Given the description of an element on the screen output the (x, y) to click on. 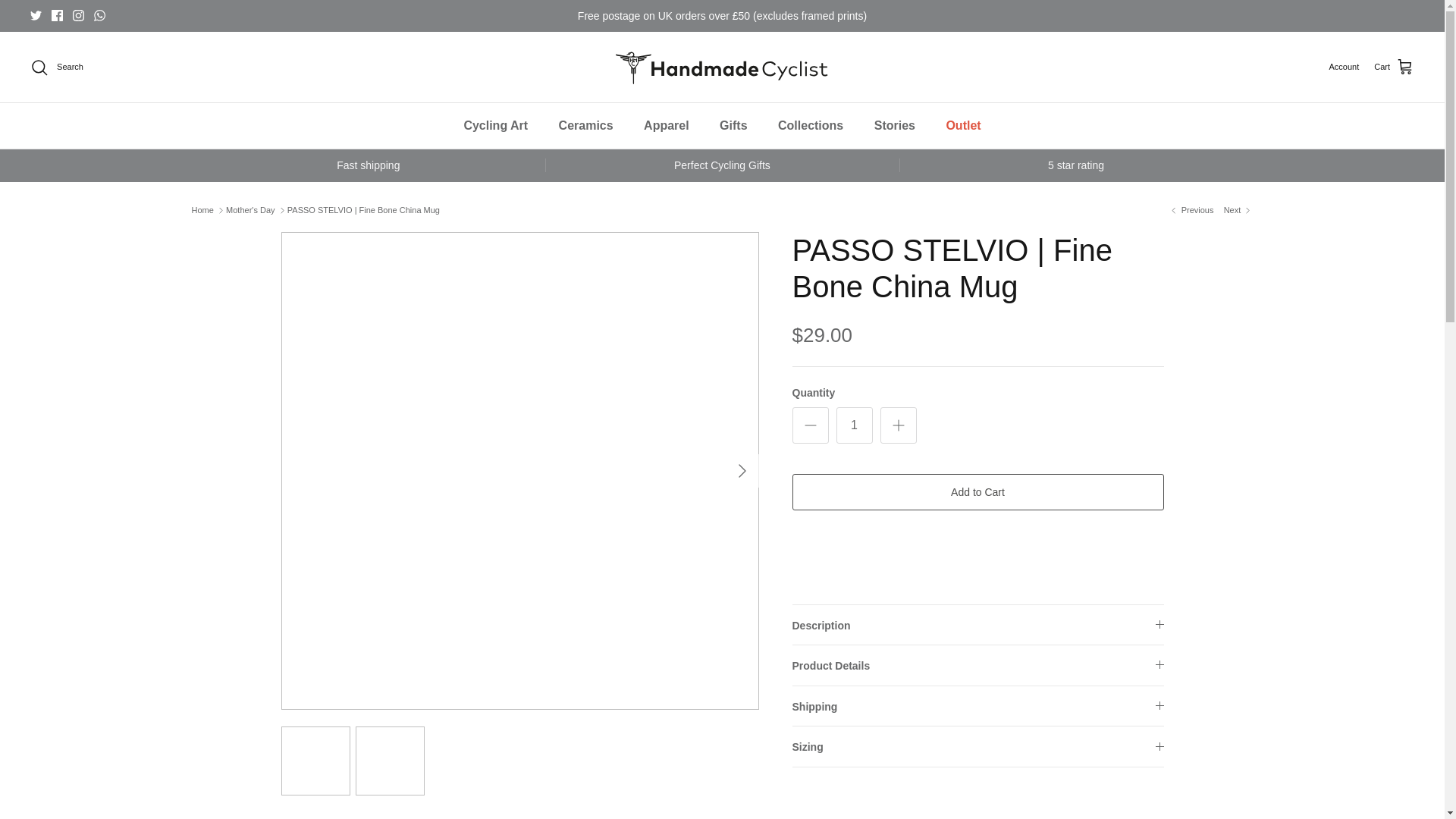
Account (1342, 67)
Instagram (78, 15)
Facebook (56, 15)
Twitter (36, 15)
Gifts (733, 125)
Search (56, 67)
Plus (897, 425)
Twitter (36, 15)
Cart (1393, 66)
Apparel (666, 125)
